Given the description of an element on the screen output the (x, y) to click on. 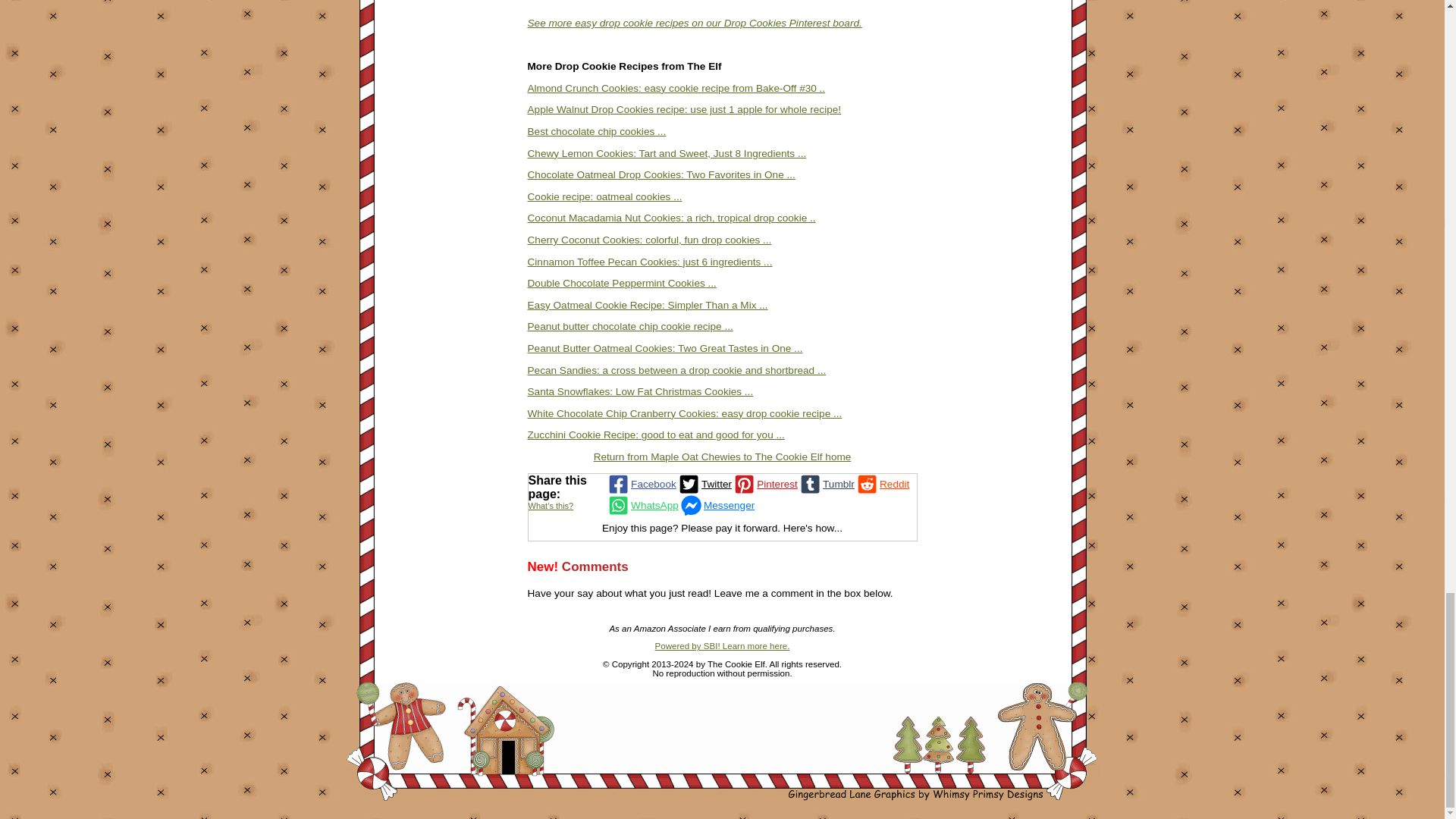
Easy Oatmeal Cookie Recipe: Simpler Than a Mix ... (647, 305)
Zucchini Cookie Recipe: good to eat and good for you ... (655, 434)
Cookie recipe: oatmeal cookies ... (604, 196)
Santa Snowflakes: Low Fat Christmas Cookies ... (640, 391)
Pinterest (764, 484)
Return from Maple Oat Chewies to The Cookie Elf home (722, 456)
Double Chocolate Peppermint Cookies ... (621, 283)
Facebook (641, 484)
Chocolate Oatmeal Drop Cookies: Two Favorites in One ... (660, 174)
Tumblr (825, 484)
WhatsApp (641, 505)
Chewy Lemon Cookies: Tart and Sweet, Just 8 Ingredients ... (666, 153)
Messenger (716, 505)
Twitter (704, 484)
